Given the description of an element on the screen output the (x, y) to click on. 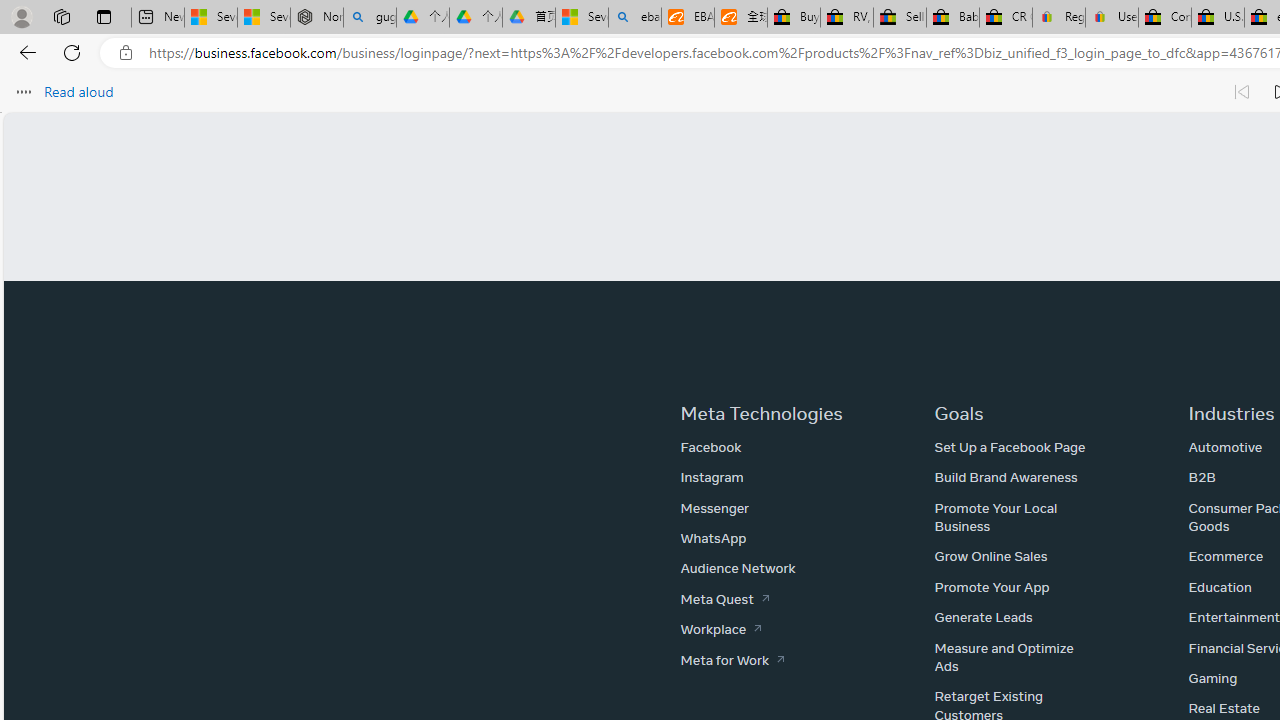
Promote Your App (991, 586)
Real Estate (1223, 708)
Audience Network (737, 568)
Set Up a Facebook Page (1009, 447)
Education (1219, 586)
Meta Quest (724, 597)
Measure and Optimize Ads (1003, 656)
